Given the description of an element on the screen output the (x, y) to click on. 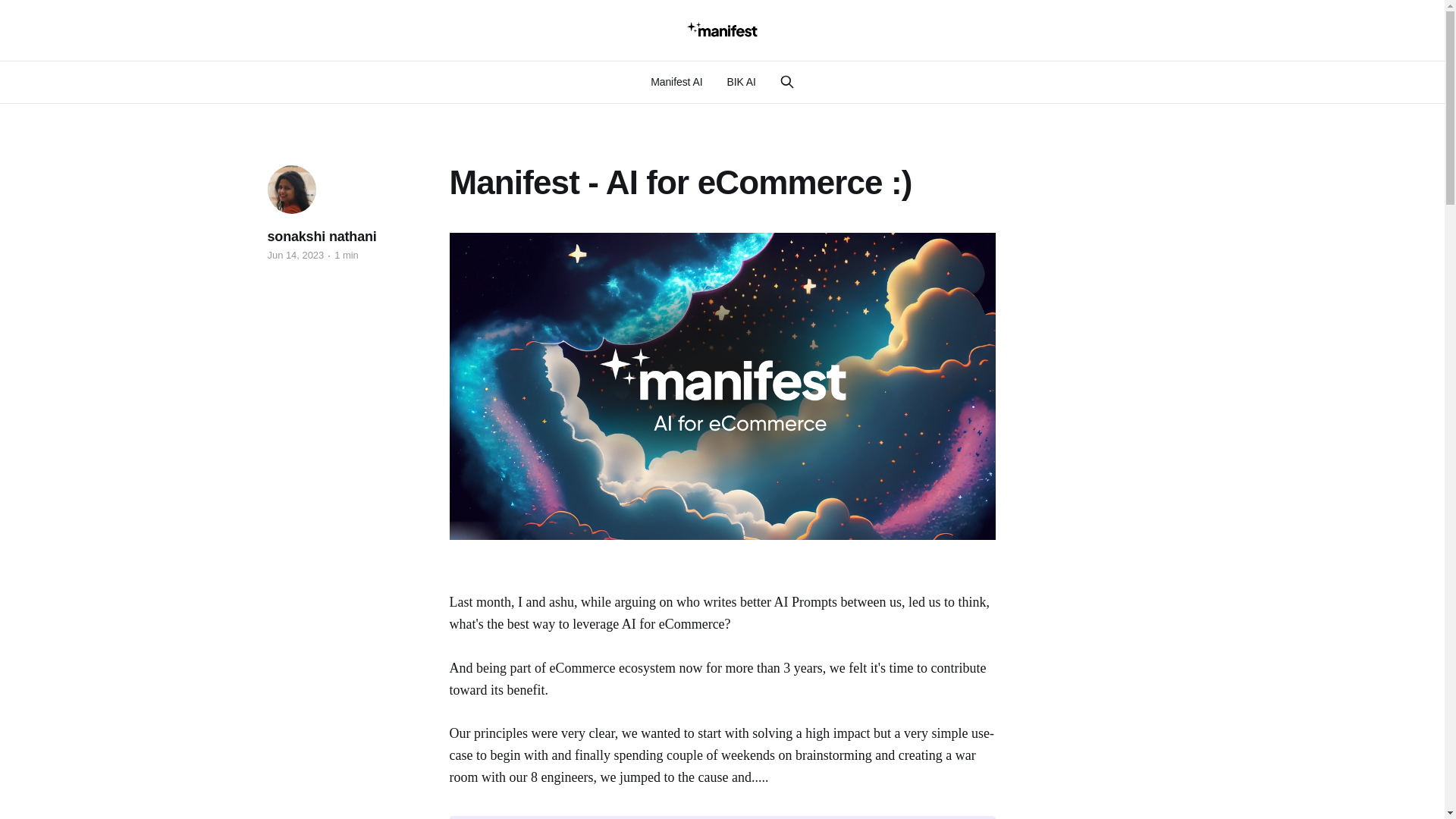
sonakshi nathani (320, 236)
BIK AI (740, 81)
Manifest AI (675, 81)
